Given the description of an element on the screen output the (x, y) to click on. 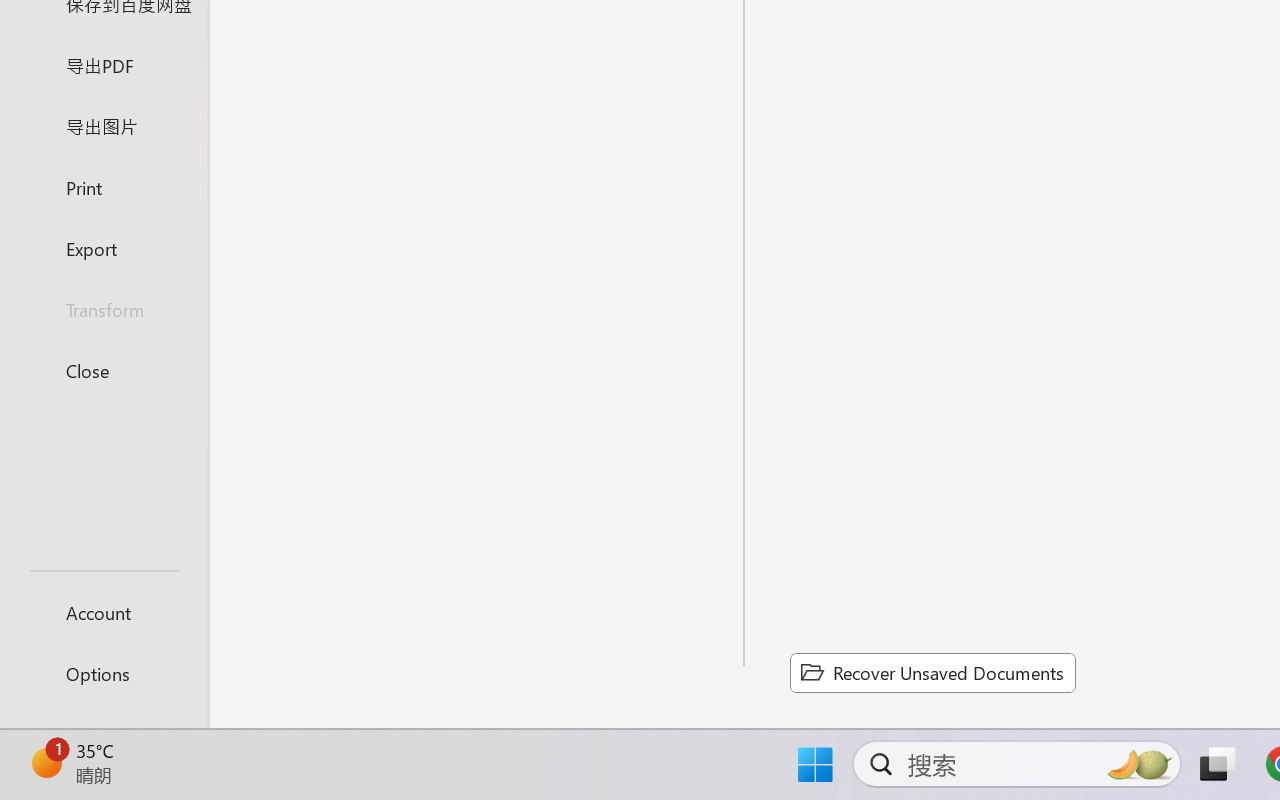
Recover Unsaved Documents (932, 672)
Account (104, 612)
Print (104, 186)
Transform (104, 309)
Export (104, 248)
Options (104, 673)
